Given the description of an element on the screen output the (x, y) to click on. 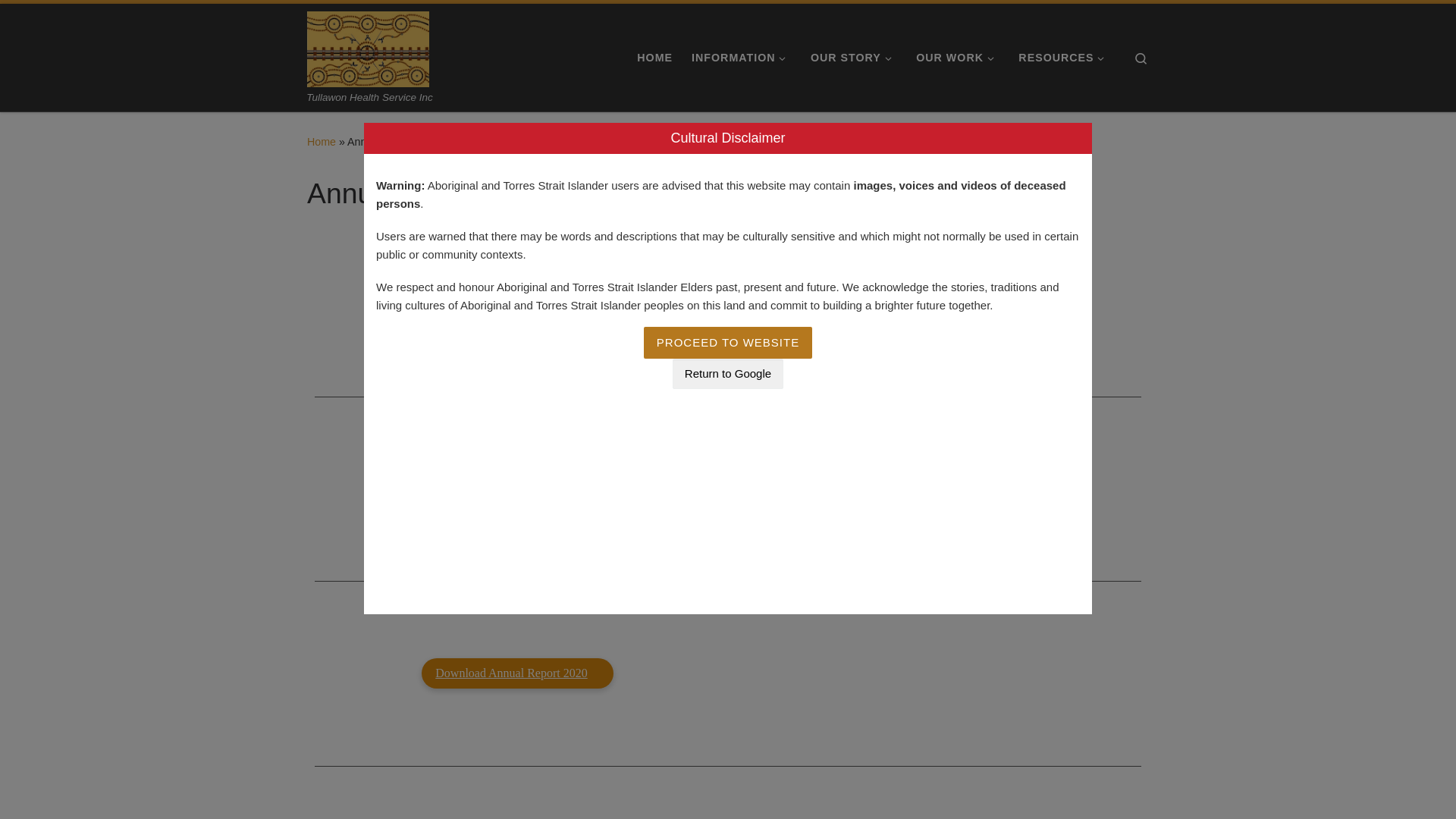
Tullawon_Annual_Report_2022_Thumbnail._2MBjpg Element type: hover (938, 304)
Download Annual Report 2021 Element type: text (516, 488)
Return to Google Element type: text (727, 373)
Download Annual Report 2020 Element type: text (516, 673)
Download Annual Report 2022 Element type: text (516, 304)
Search Element type: text (1140, 57)
OUR WORK Element type: text (957, 57)
Home Element type: text (321, 141)
HOME Element type: text (654, 57)
RESOURCES Element type: text (1063, 57)
Annual_Report_2020_thumbnail Element type: hover (938, 673)
OUR STORY Element type: text (854, 57)
INFORMATION Element type: text (741, 57)
Skip to content Element type: text (61, 20)
Tullawon_Annual_Report_2021_thumbnail Element type: hover (938, 488)
Proceed to Website Element type: text (727, 342)
